Given the description of an element on the screen output the (x, y) to click on. 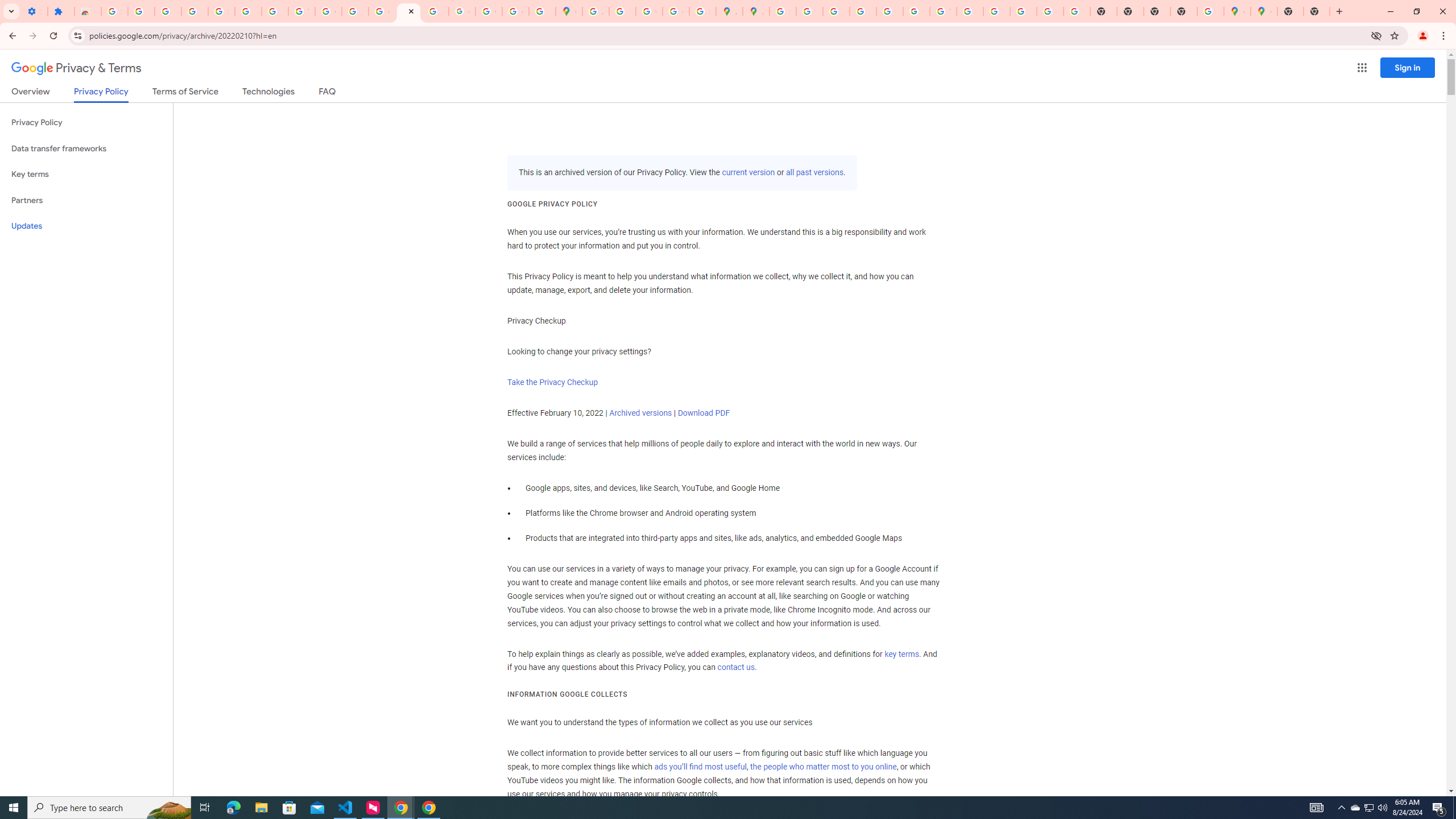
Take the Privacy Checkup (552, 381)
Data transfer frameworks (86, 148)
Use Google Maps in Space - Google Maps Help (1210, 11)
Download PDF (703, 412)
Google Maps (569, 11)
Google Maps (1236, 11)
